Given the description of an element on the screen output the (x, y) to click on. 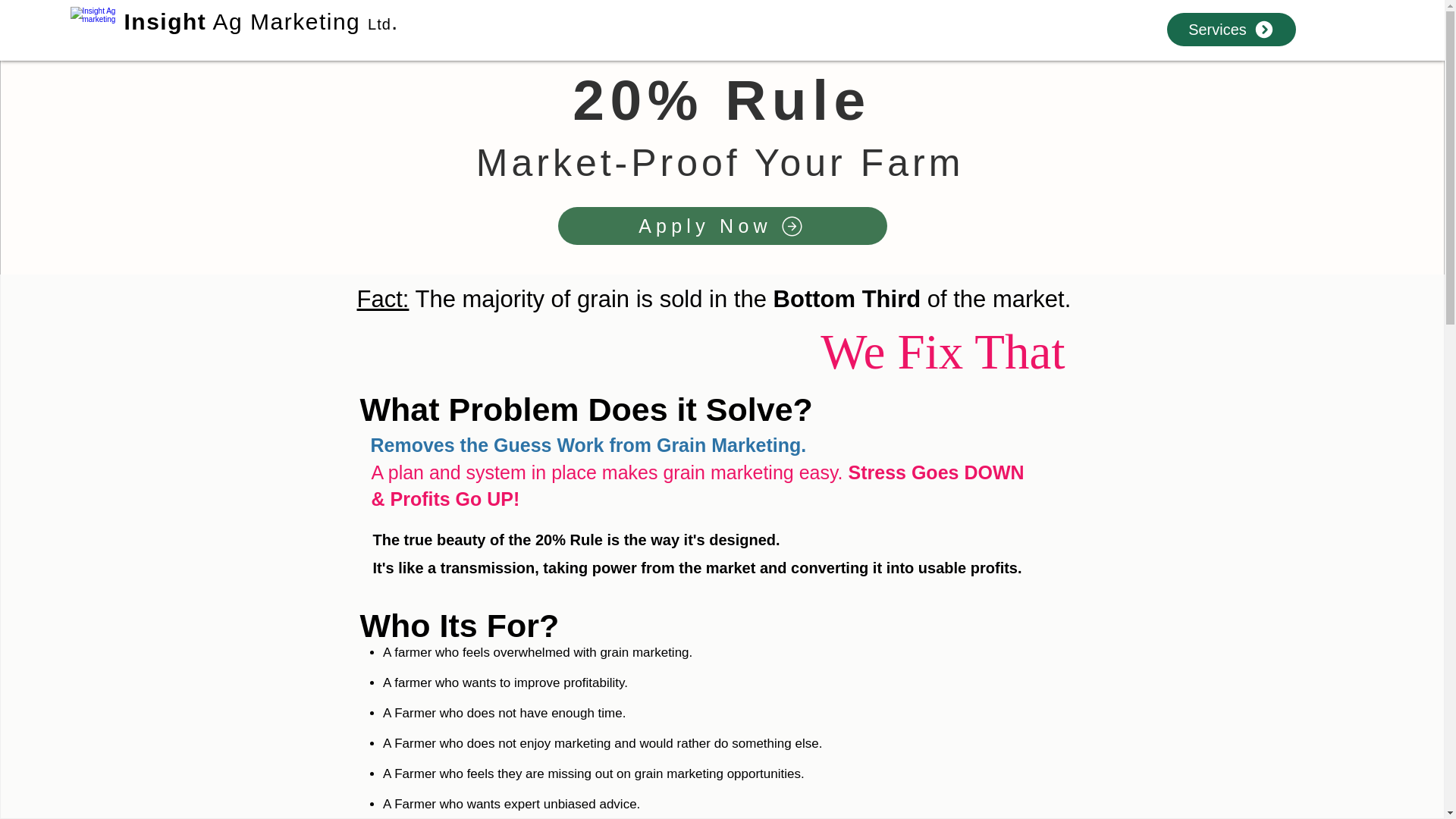
Insight Ag Marketing Ltd. (260, 21)
Apply Now (721, 225)
Services (1231, 29)
